Given the description of an element on the screen output the (x, y) to click on. 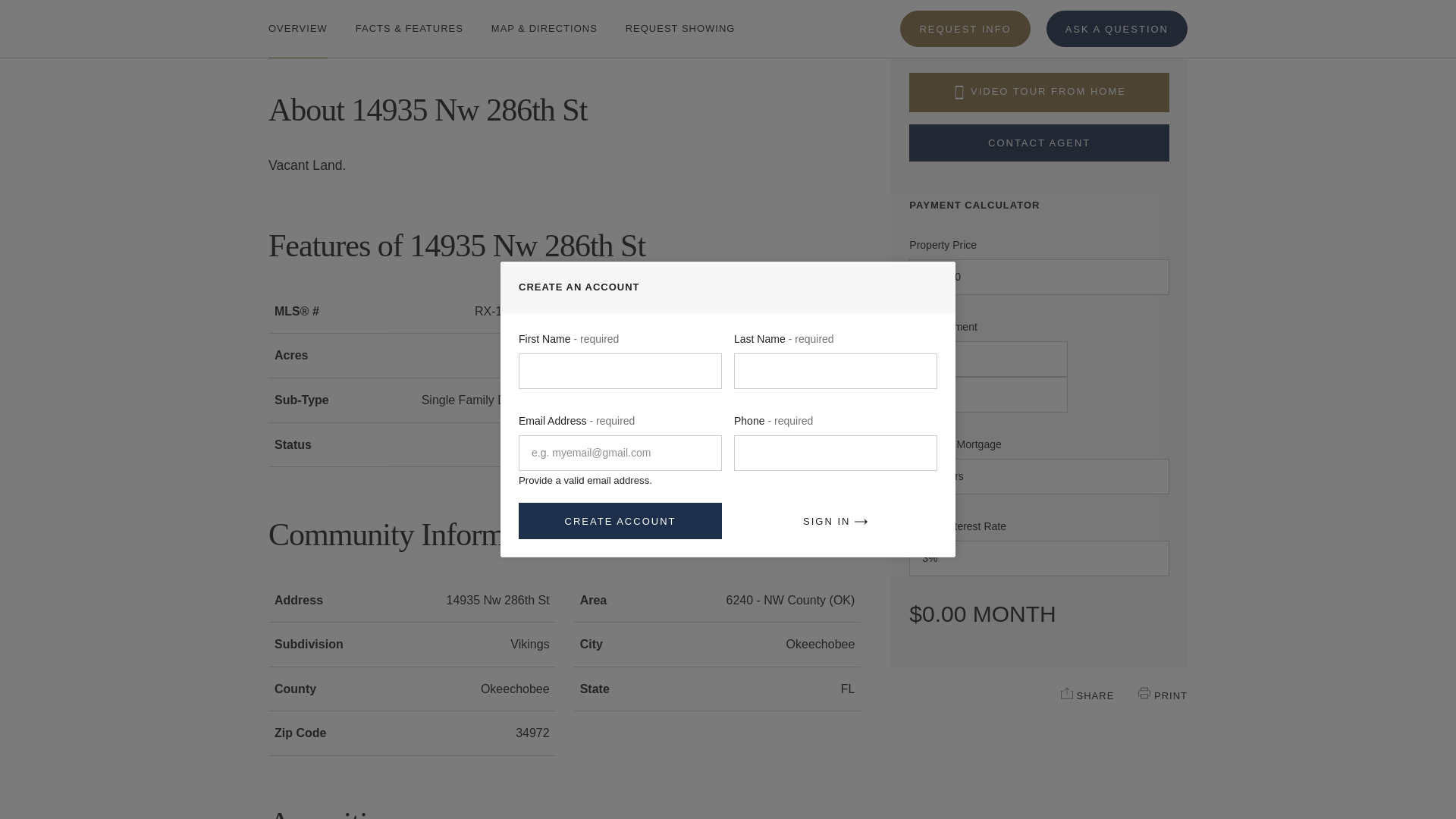
REQUEST INFO (964, 15)
MOBILE ICON VIDEO TOUR (1038, 92)
REQUEST SHOWING (680, 20)
PRINT PRINT (1163, 695)
SHARE SHARE (1087, 695)
OVERVIEW (297, 20)
SHARE (1067, 693)
MOBILE ICON (959, 92)
ASK A QUESTION (1117, 15)
PRINT (1144, 693)
